Given the description of an element on the screen output the (x, y) to click on. 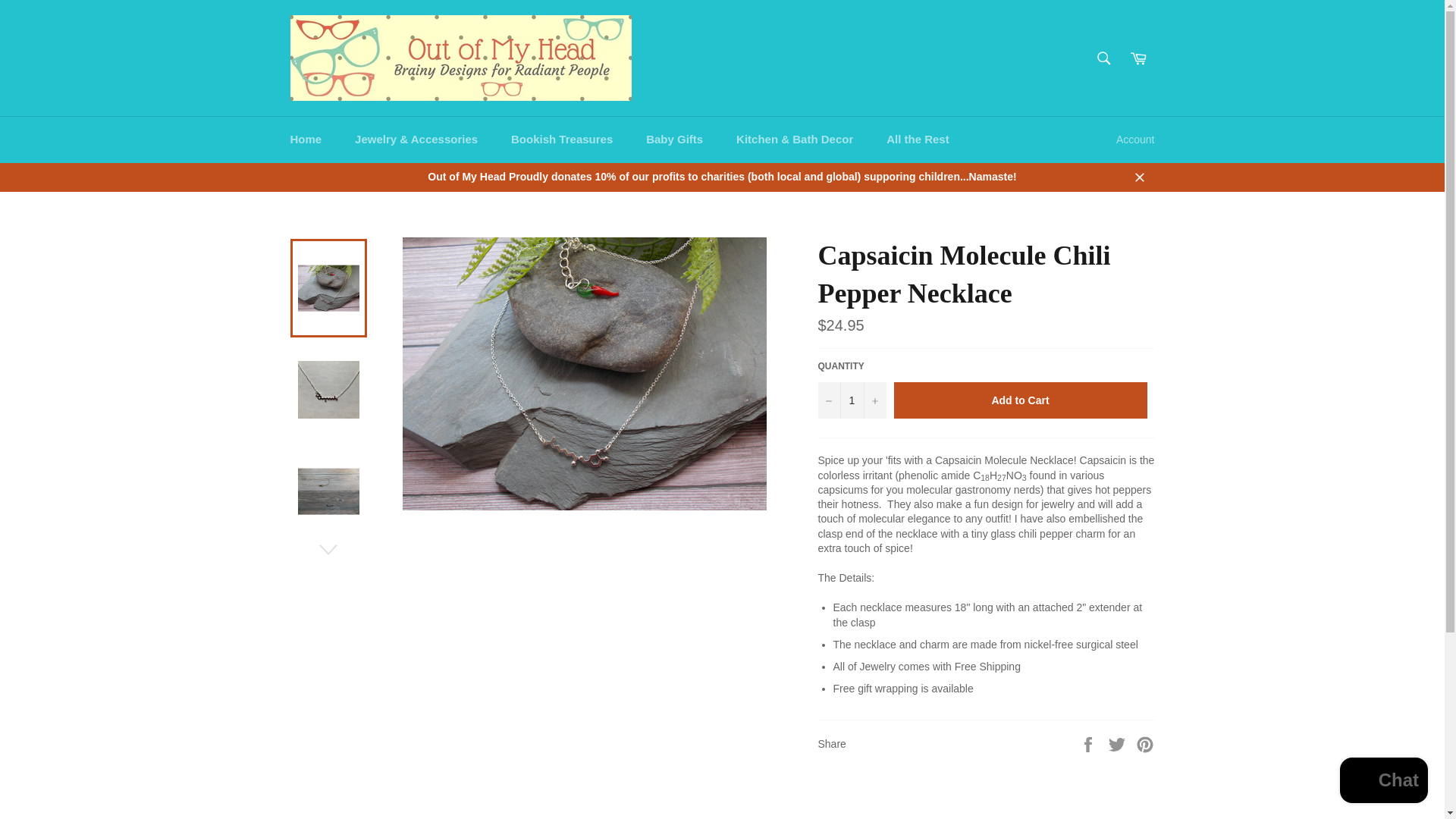
Account (1134, 139)
All the Rest (916, 139)
Tweet on Twitter (1118, 743)
Pin on Pinterest (1144, 743)
Home (305, 139)
1 (850, 400)
Bookish Treasures (561, 139)
Search (1103, 58)
Add to Cart (1020, 400)
Shopify online store chat (1383, 781)
Close (1139, 176)
Share on Facebook (1089, 743)
Cart (1138, 58)
Baby Gifts (673, 139)
